Given the description of an element on the screen output the (x, y) to click on. 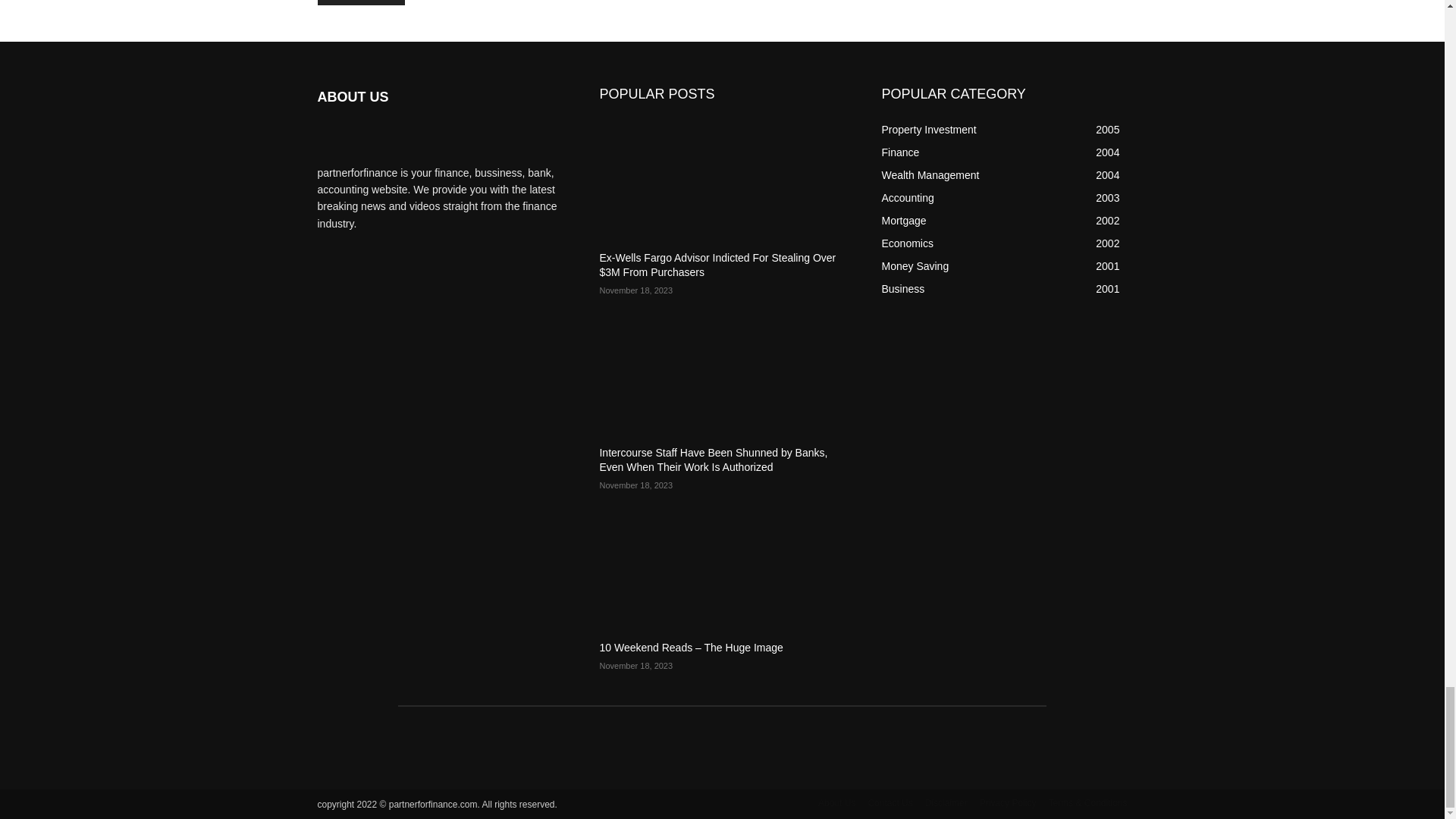
Post Comment (360, 2)
